Given the description of an element on the screen output the (x, y) to click on. 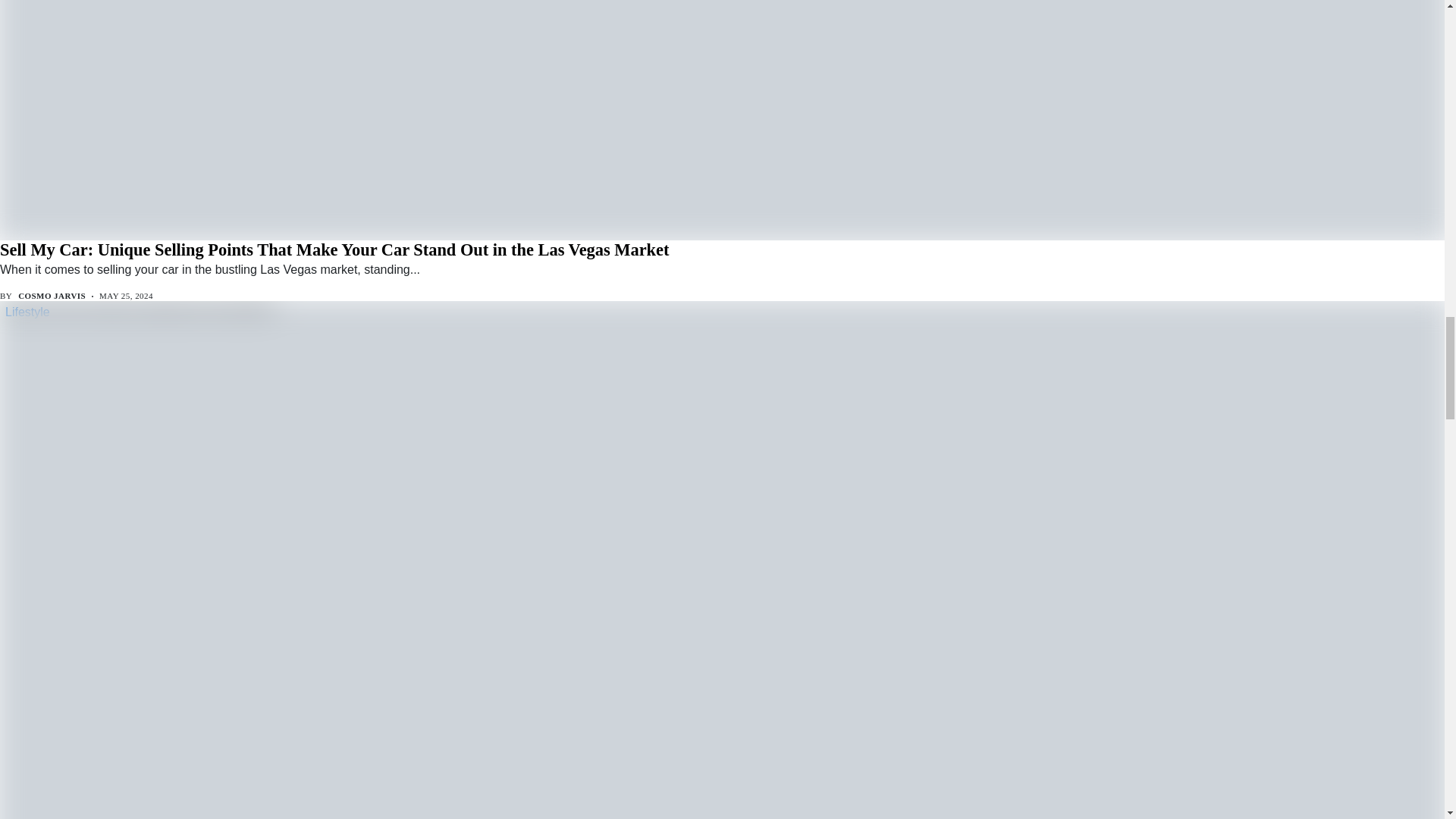
Posts by Cosmo Jarvis (51, 296)
